Given the description of an element on the screen output the (x, y) to click on. 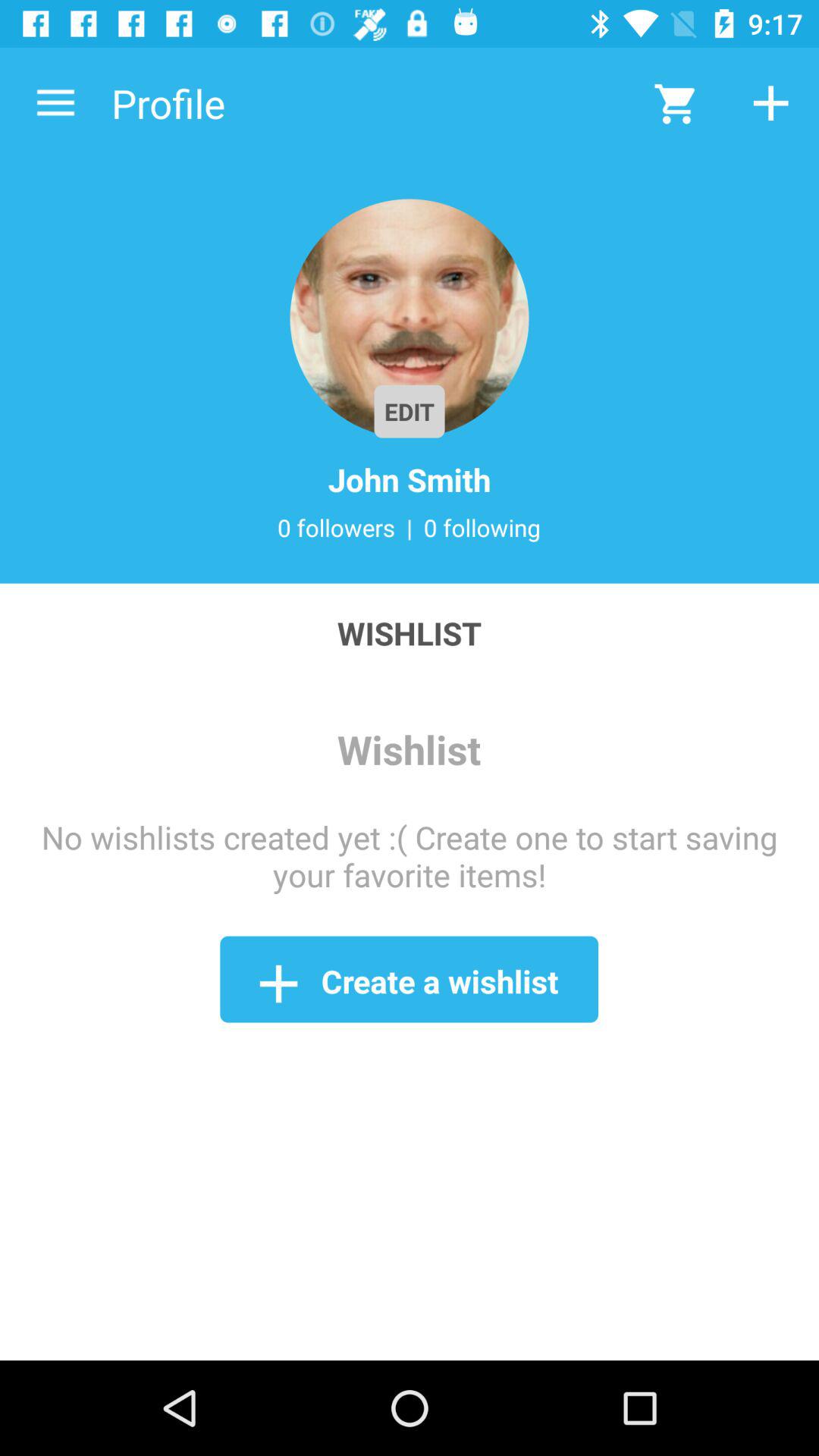
open the item below john smith (336, 527)
